Given the description of an element on the screen output the (x, y) to click on. 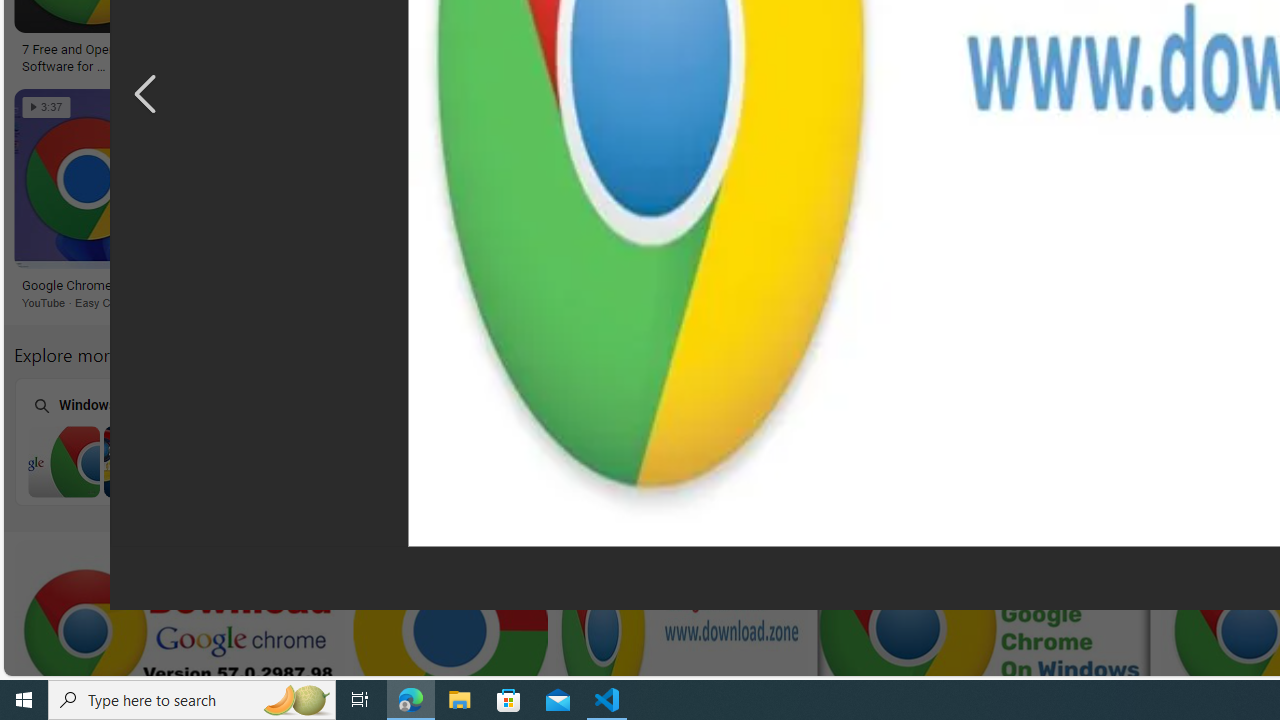
All Categories - humanrewa (1061, 50)
Descargar Google Chrome Para Pc 2021 Windows 7810 (345, 50)
Chrome Browser Download Windows 7 Windows 7 (139, 441)
Chrome Browser Download Windows 7 (140, 461)
Chrome Browser Download Apk for PC Windows 10 (1164, 461)
Chrome Browser Download Windows 10 (908, 461)
